Given the description of an element on the screen output the (x, y) to click on. 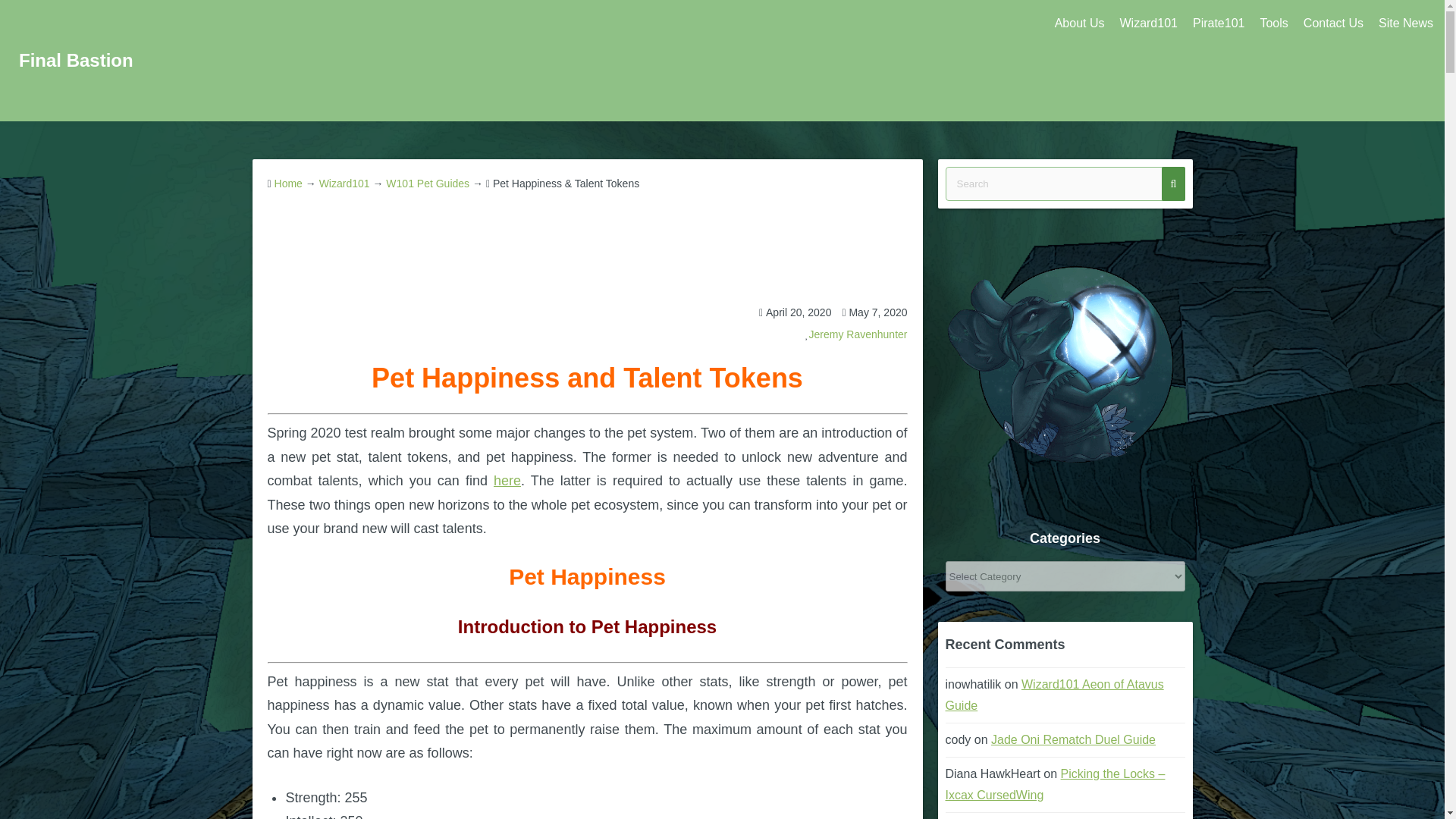
About Us (1079, 23)
Site News (1406, 23)
Tools (1273, 23)
Home (288, 183)
Pirate101 (1218, 23)
Wizard101 (1148, 23)
Posts by Jeremy Ravenhunter (858, 333)
Contact Us (1333, 23)
Final Bastion (75, 59)
